Given the description of an element on the screen output the (x, y) to click on. 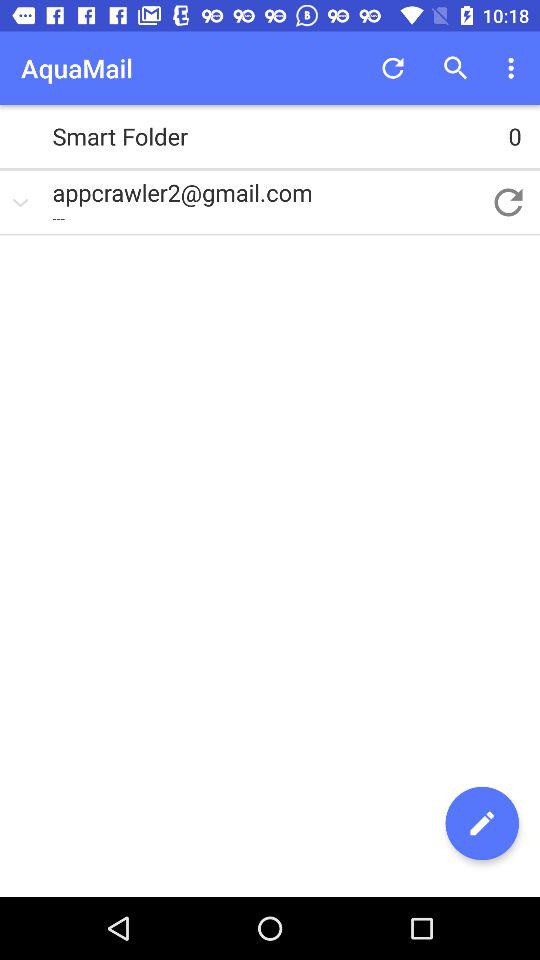
select app next to aquamail item (392, 67)
